Given the description of an element on the screen output the (x, y) to click on. 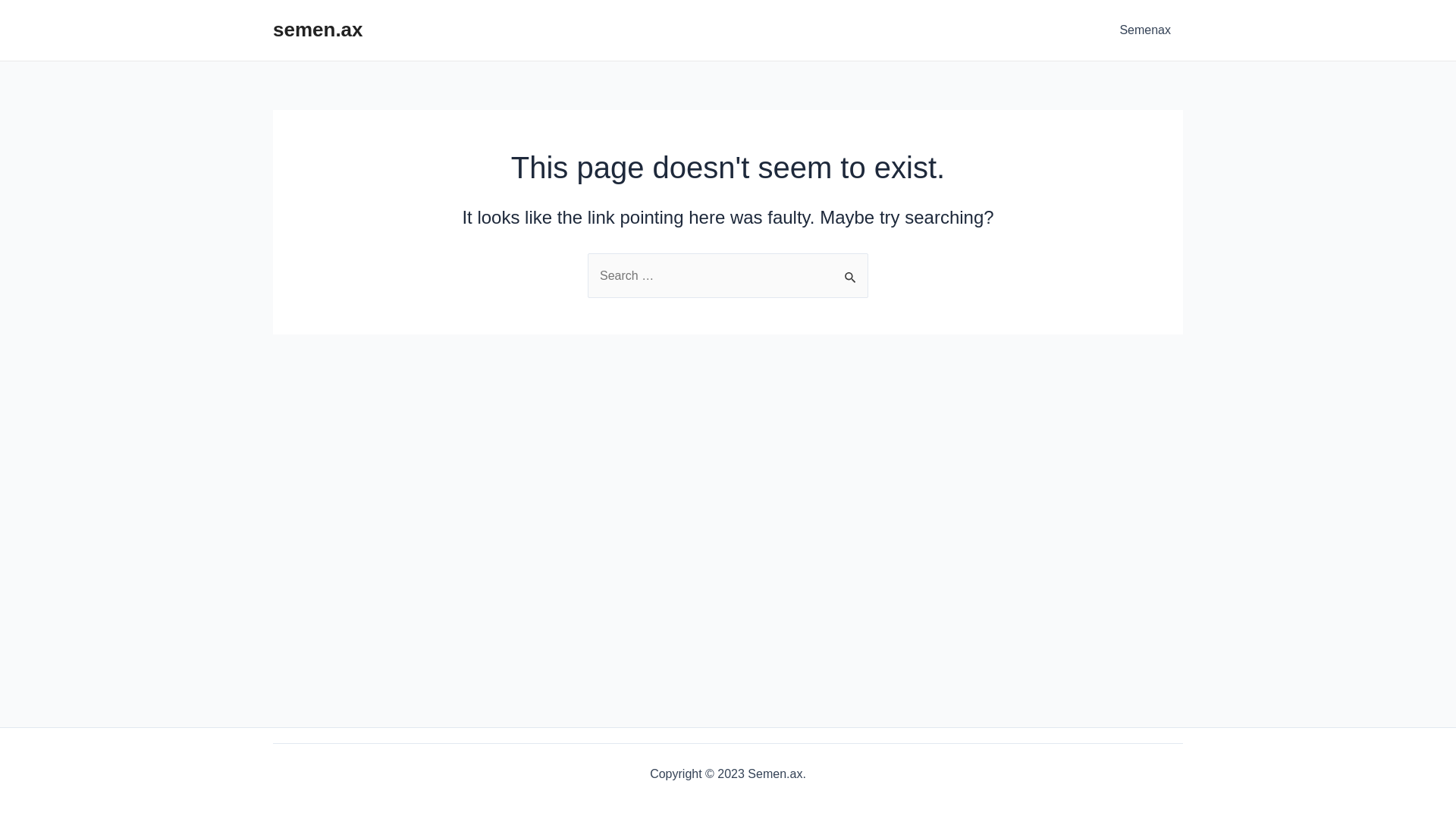
semen.ax Element type: text (318, 29)
Search Element type: text (851, 269)
Semenax Element type: text (1145, 30)
